Given the description of an element on the screen output the (x, y) to click on. 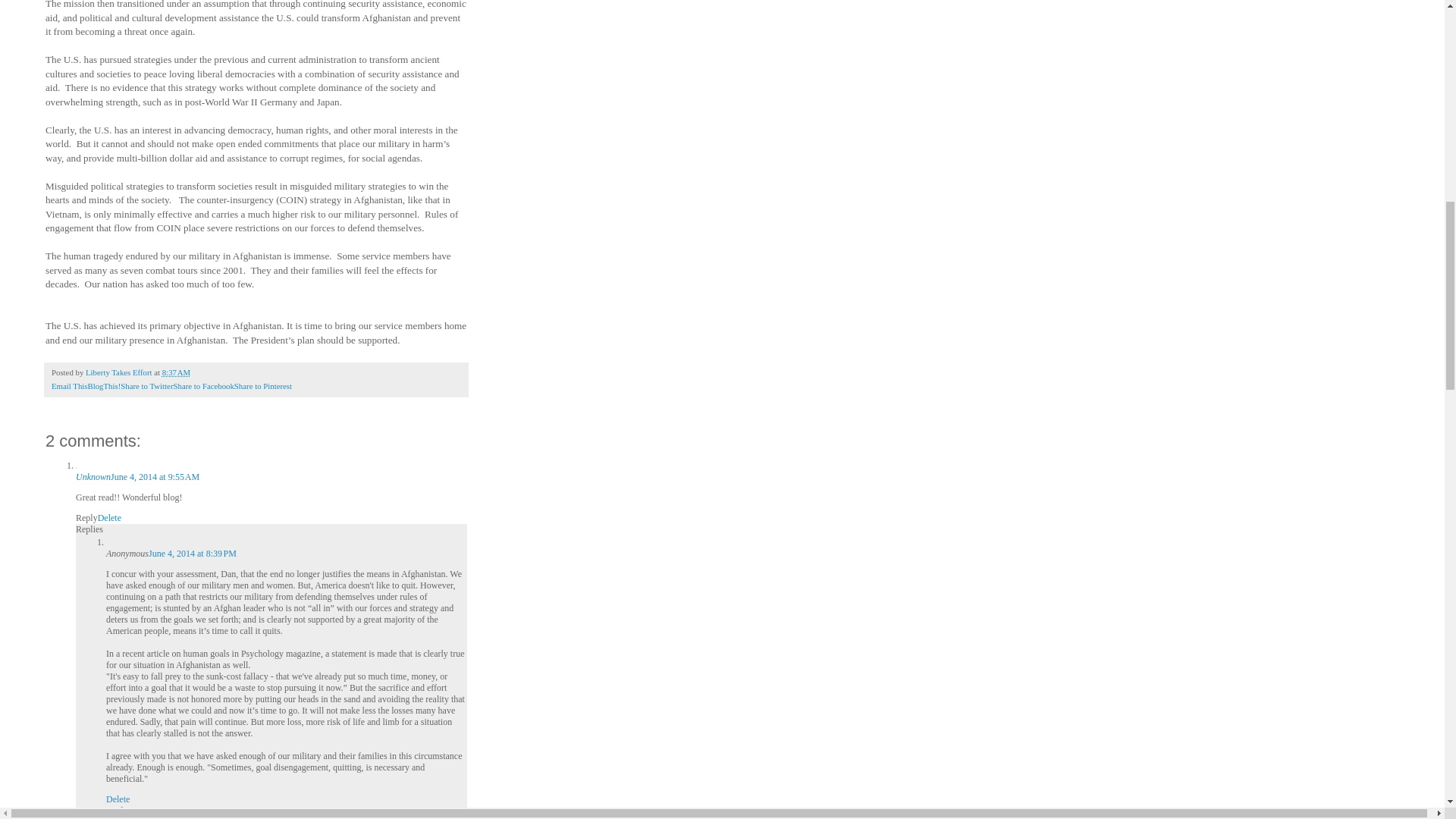
Share to Pinterest (263, 385)
BlogThis! (103, 385)
BlogThis! (103, 385)
Replies (119, 810)
Share to Twitter (146, 385)
Share to Twitter (146, 385)
Liberty Takes Effort (119, 371)
Delete (108, 517)
Replies (89, 529)
Share to Facebook (202, 385)
permanent link (175, 371)
Delete (117, 798)
